Given the description of an element on the screen output the (x, y) to click on. 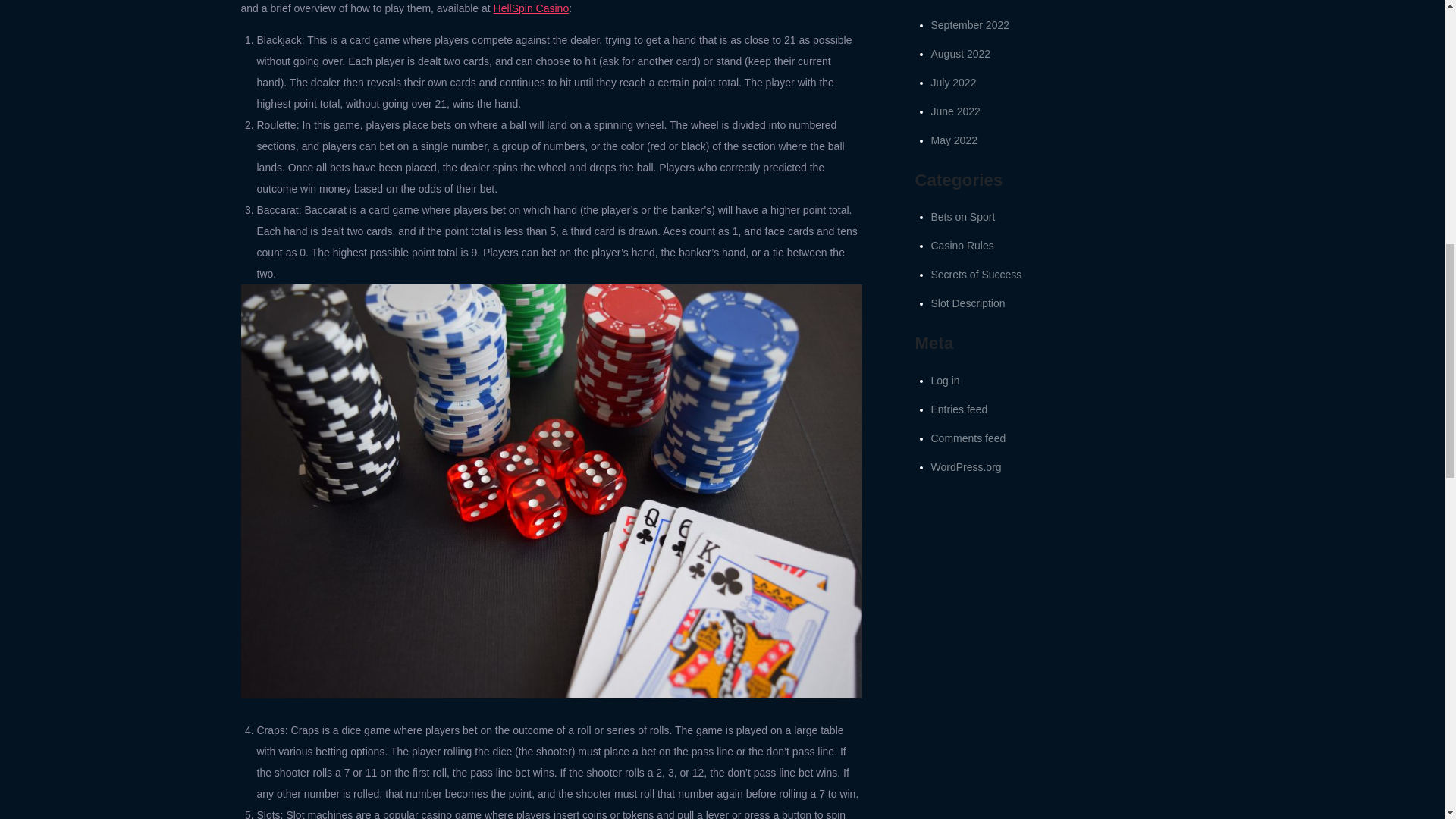
Secrets of Success (976, 274)
July 2022 (953, 82)
Slot Description (968, 303)
HellSpin Casino (531, 8)
May 2022 (953, 140)
Casino Rules (962, 245)
Bets on Sport (963, 216)
Log in (945, 380)
September 2022 (970, 24)
August 2022 (961, 53)
Entries feed (959, 409)
October 2022 (963, 1)
June 2022 (955, 111)
Comments feed (968, 438)
